Given the description of an element on the screen output the (x, y) to click on. 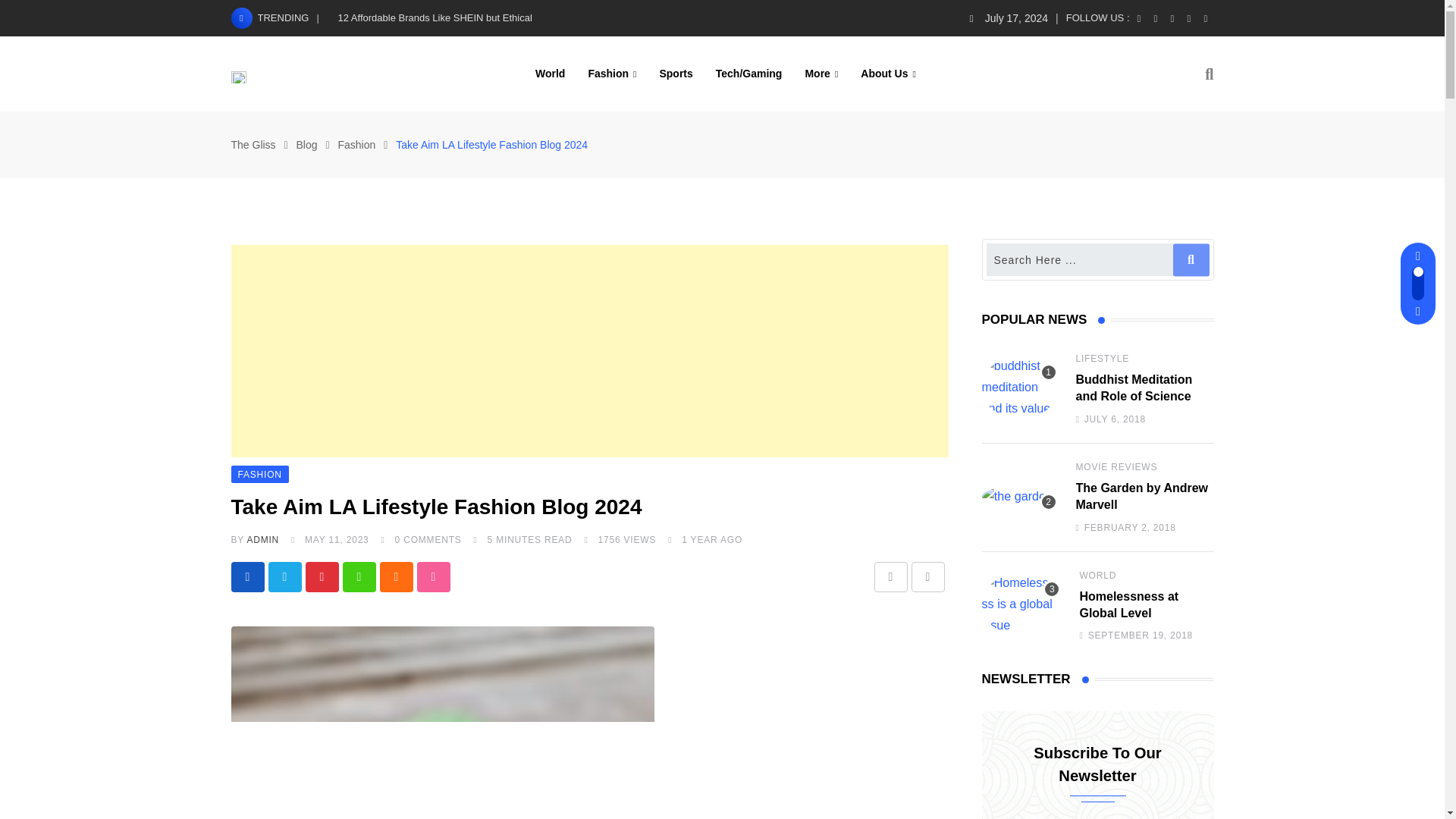
12 Affordable Brands Like SHEIN but Ethical (434, 17)
Posts by admin (262, 539)
Go to Blog. (307, 144)
Fashion (611, 73)
More (820, 73)
About Us (887, 73)
Sports (675, 73)
Go to the Fashion Category archives. (356, 144)
World (550, 73)
Search (1208, 74)
Go to The Gliss. (252, 144)
